Given the description of an element on the screen output the (x, y) to click on. 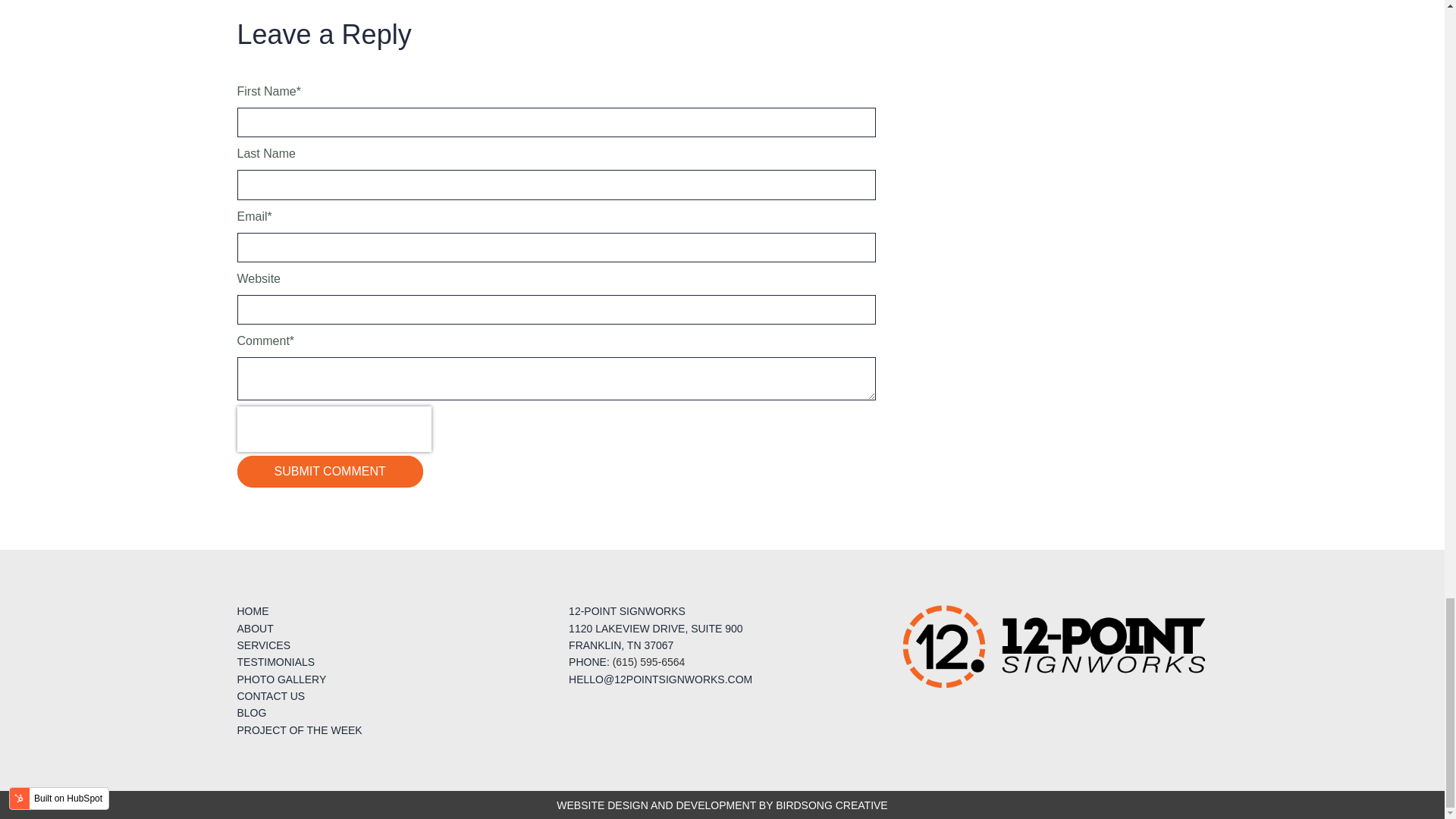
logo footer.png (1054, 646)
Submit Comment (328, 471)
reCAPTCHA (332, 429)
